Given the description of an element on the screen output the (x, y) to click on. 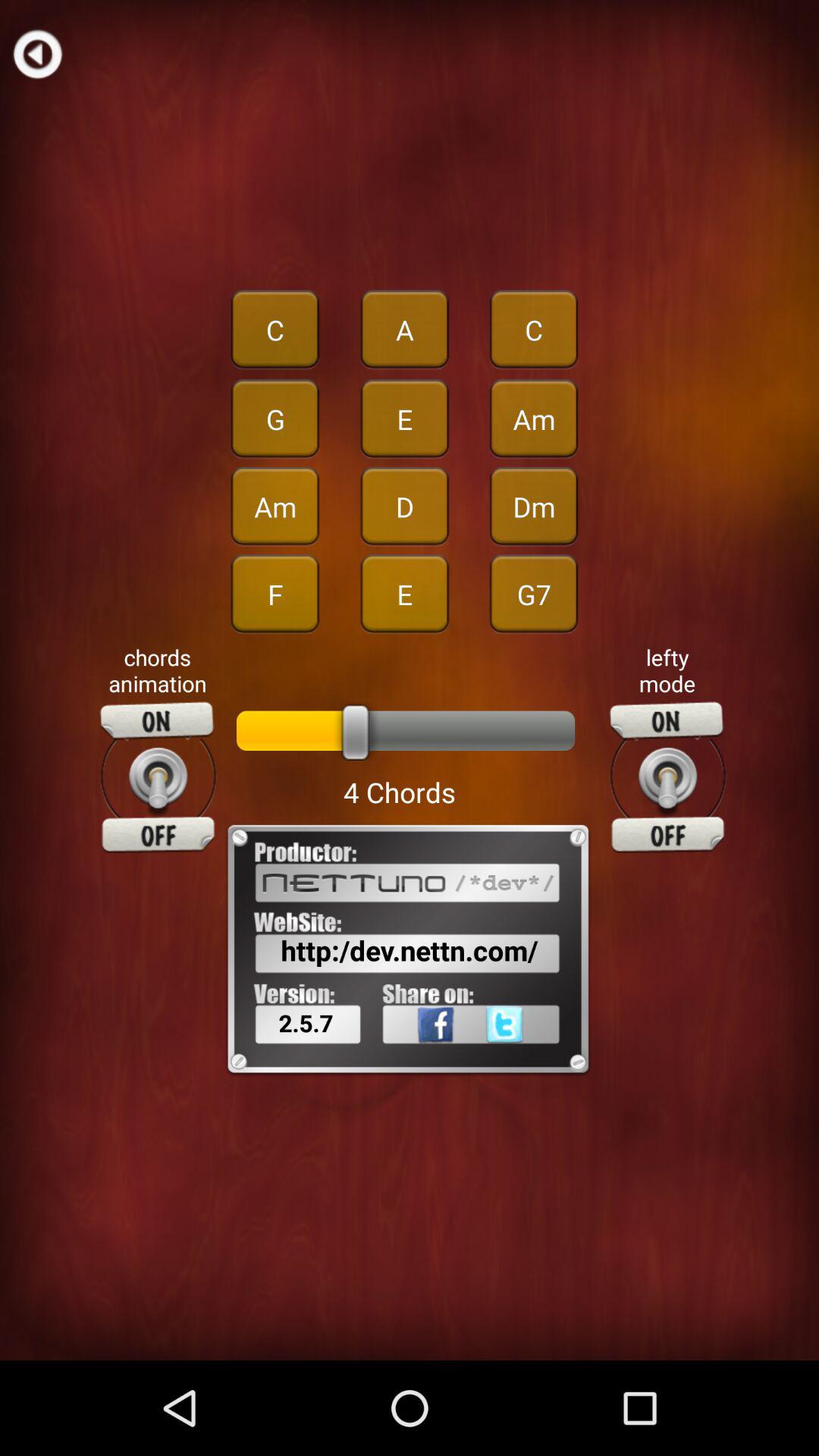
back (37, 53)
